Given the description of an element on the screen output the (x, y) to click on. 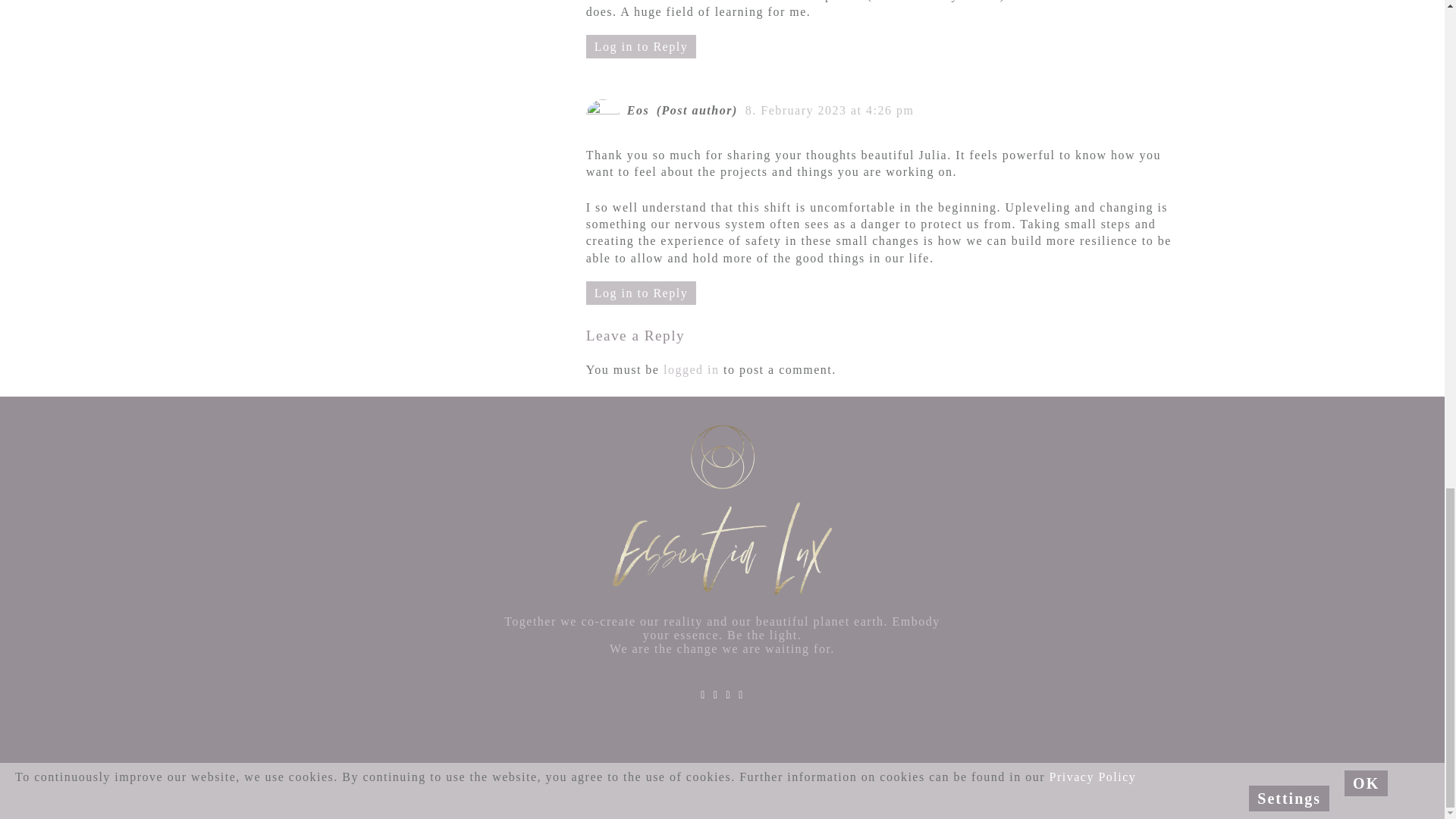
PRIVACY POLICY (598, 782)
IMPRESSUM (509, 782)
logged in (691, 369)
8. February 2023 at 4:26 pm (833, 110)
Log in to Reply (640, 292)
Log in to Reply (640, 46)
EOS KOCH (689, 796)
TERMS AND CONDITIONS (723, 782)
